Given the description of an element on the screen output the (x, y) to click on. 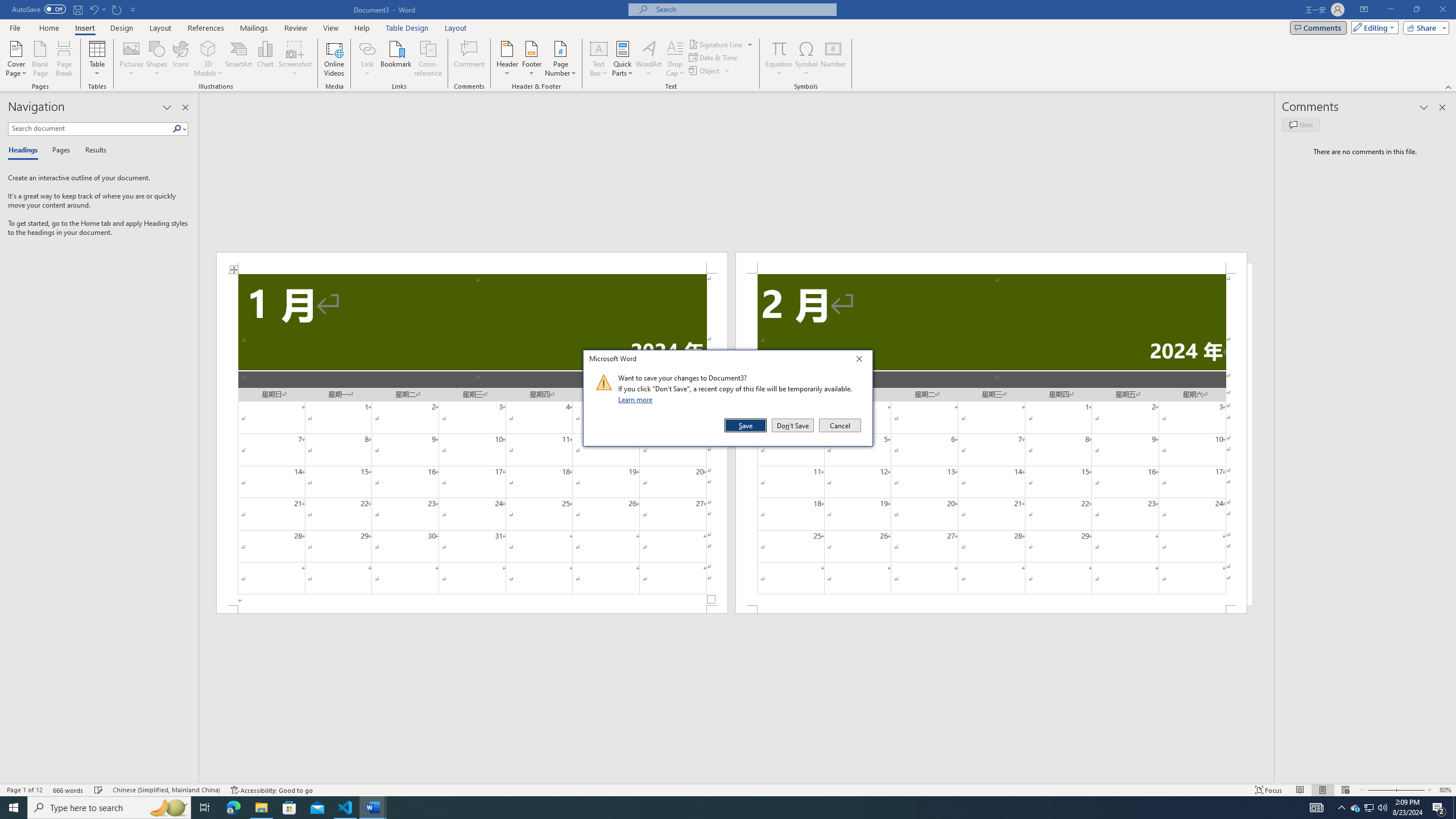
Page Break (63, 58)
3D Models (208, 58)
Search highlights icon opens search home window (167, 807)
Microsoft Edge (233, 807)
Text Box (598, 58)
Equation (778, 58)
Type here to search (108, 807)
Header (507, 58)
Cover Page (16, 58)
Symbol (806, 58)
